Given the description of an element on the screen output the (x, y) to click on. 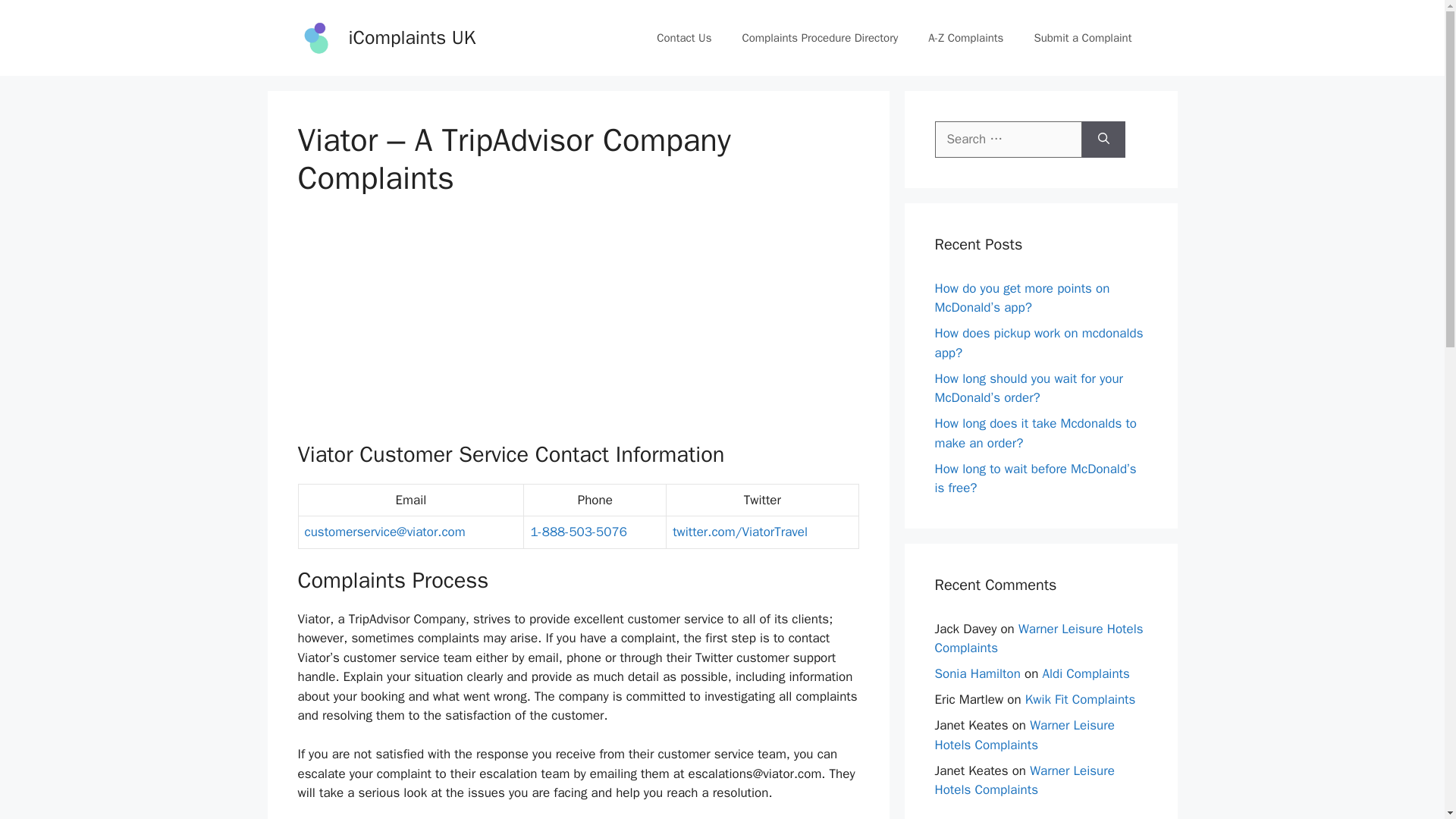
Contact Us (684, 37)
How long does it take Mcdonalds to make an order? (1035, 433)
Search for: (1007, 139)
Kwik Fit Complaints (1080, 699)
Warner Leisure Hotels Complaints (1023, 734)
How does pickup work on mcdonalds app? (1038, 343)
Aldi Complaints (1085, 673)
A-Z Complaints (964, 37)
1-888-503-5076 (577, 531)
iComplaints UK (412, 37)
